Given the description of an element on the screen output the (x, y) to click on. 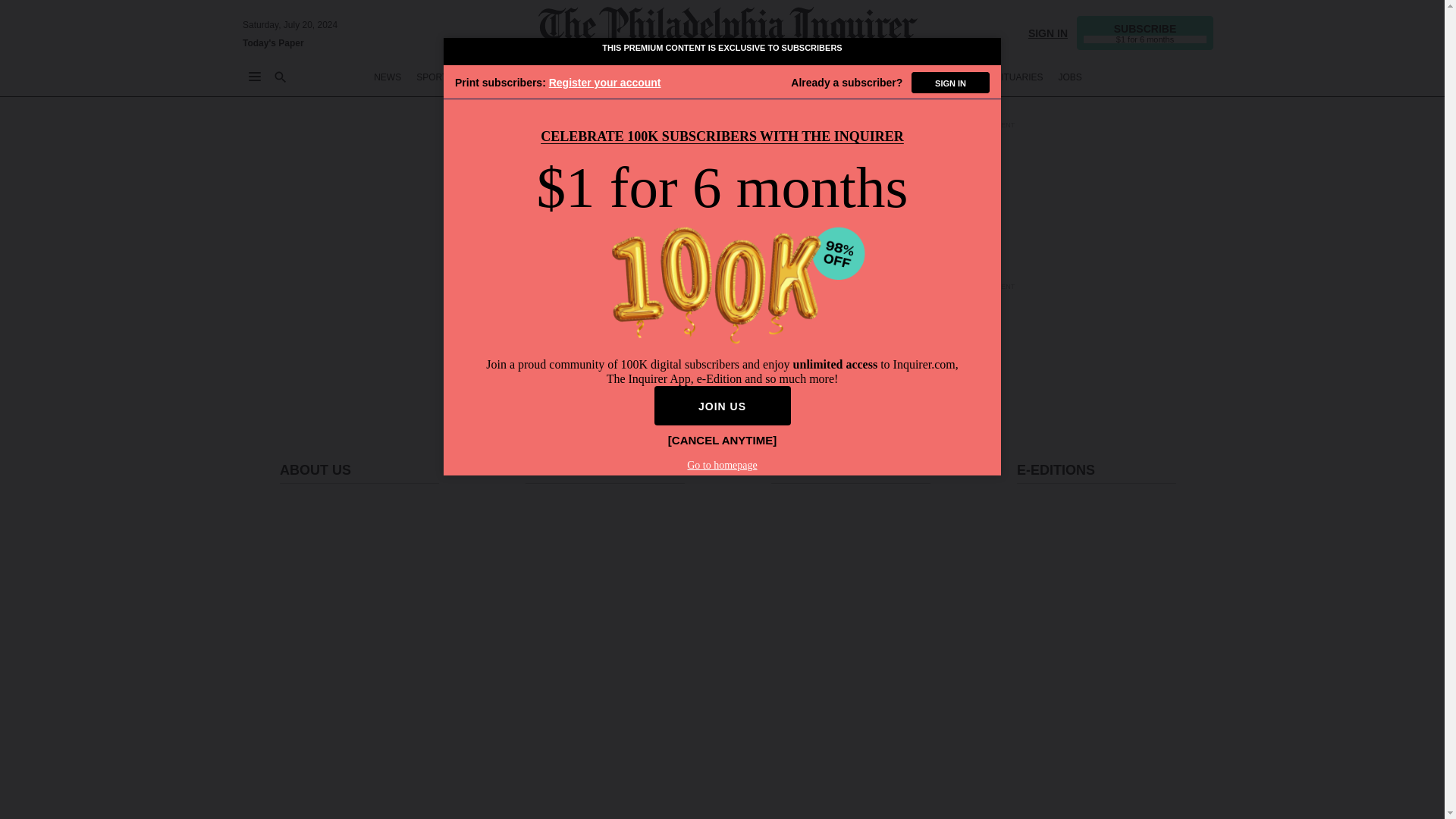
Twitter (1036, 789)
Facebook (1076, 789)
Instagram (1115, 789)
